Given the description of an element on the screen output the (x, y) to click on. 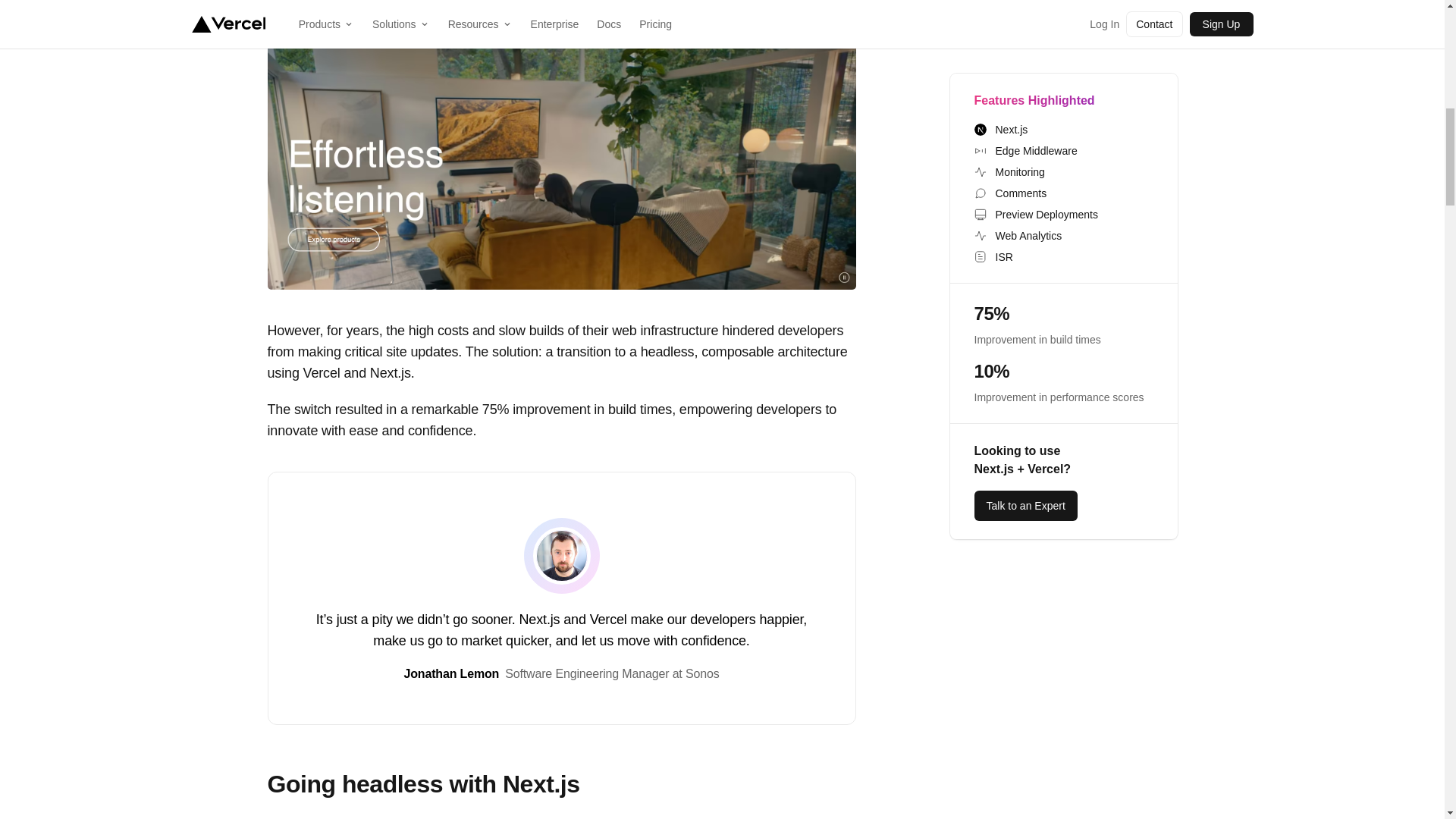
Going headless with Next.js (422, 784)
